Given the description of an element on the screen output the (x, y) to click on. 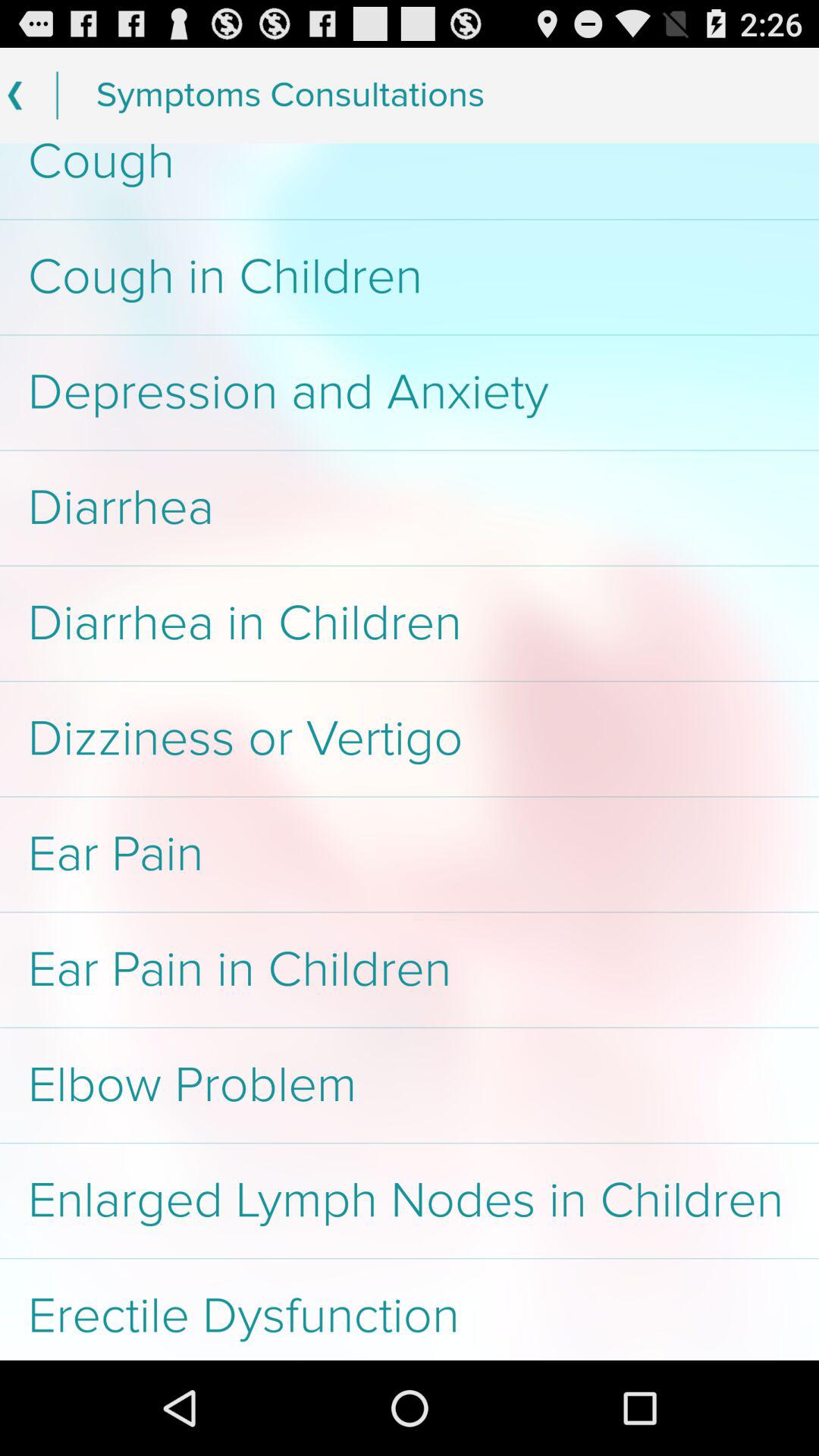
turn on item above erectile dysfunction icon (409, 1200)
